Given the description of an element on the screen output the (x, y) to click on. 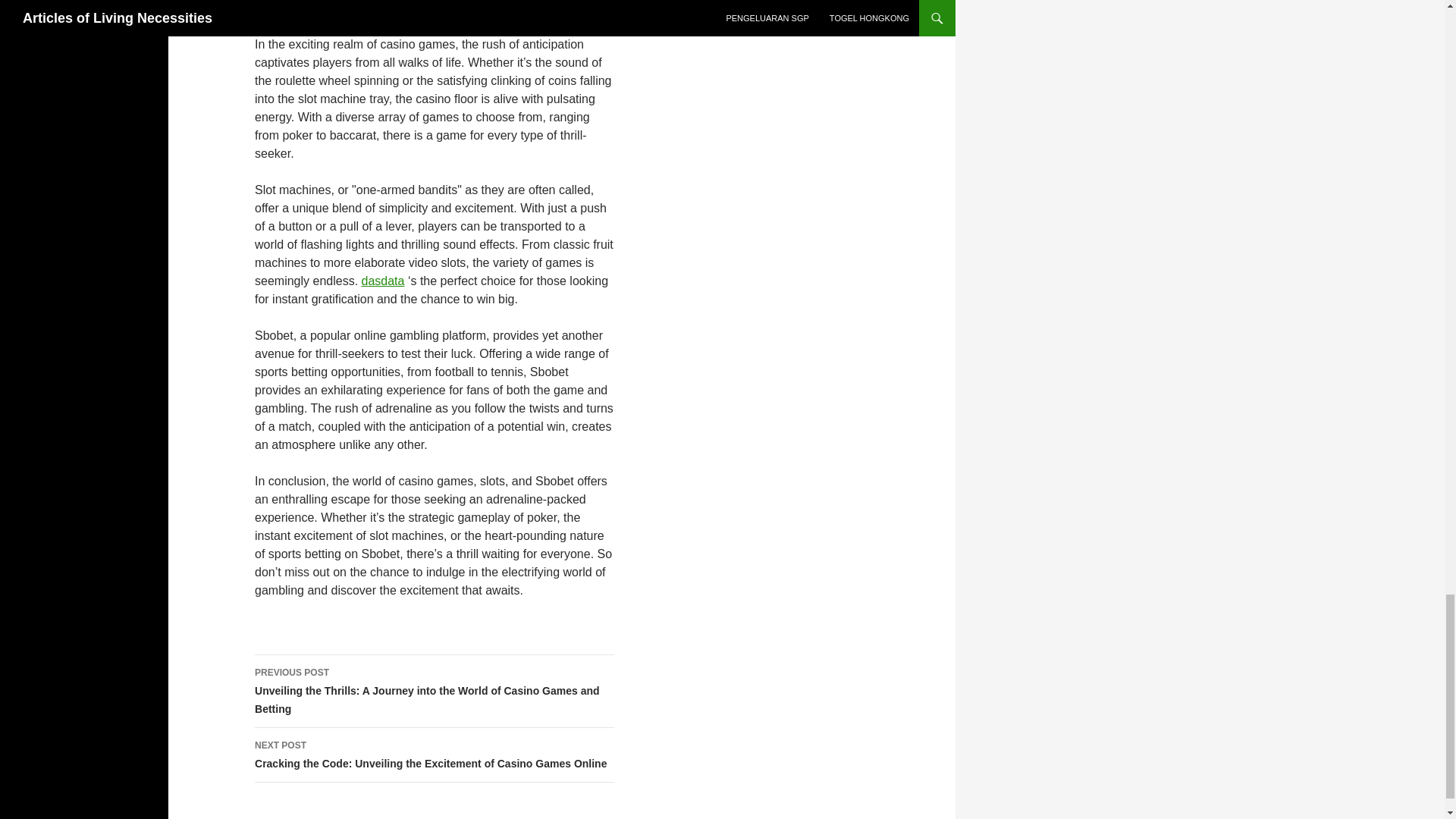
dasdata (382, 280)
